Given the description of an element on the screen output the (x, y) to click on. 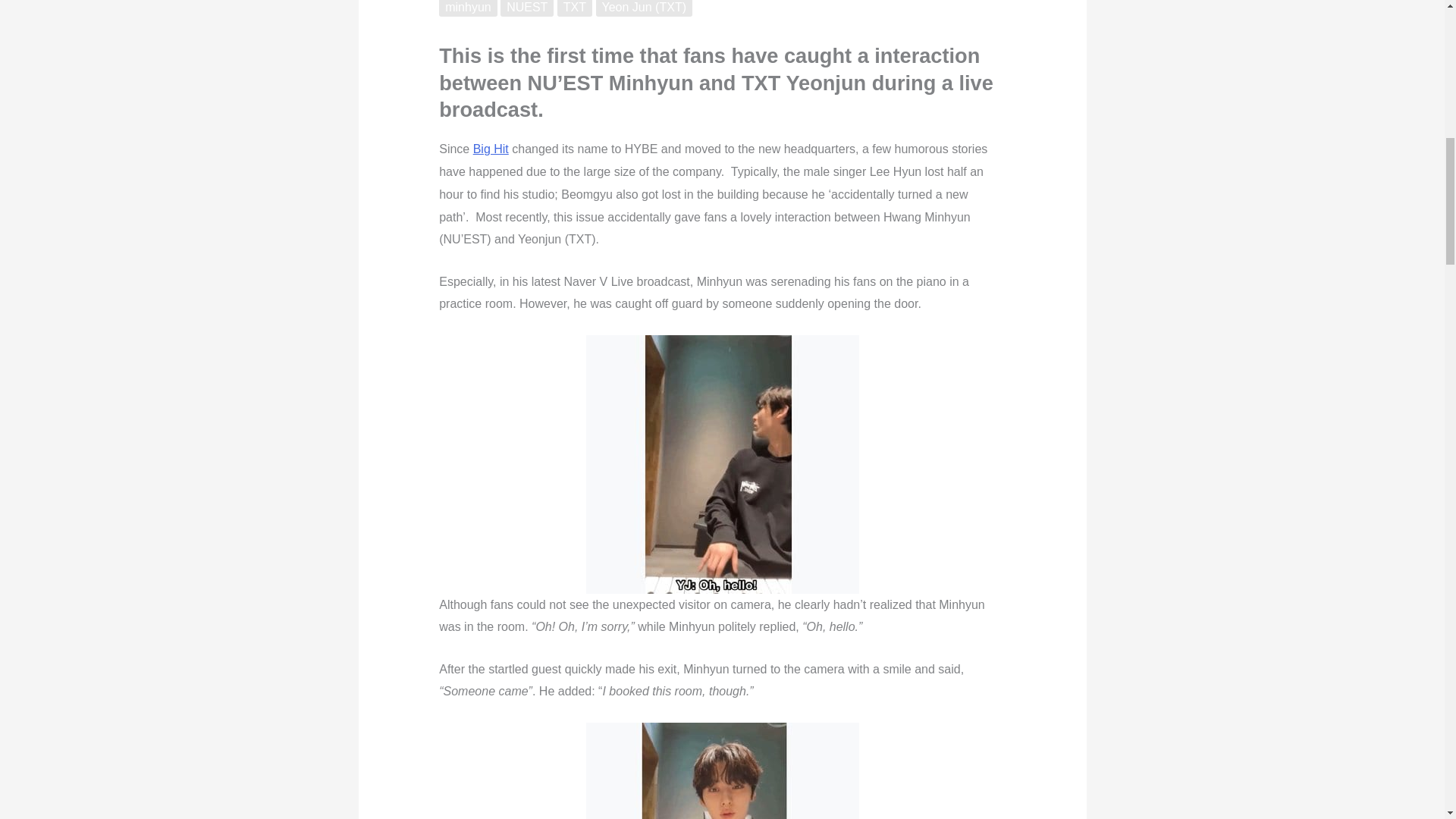
minhyun (467, 8)
NUEST (526, 8)
8B809A6F F961 430A 89B7 422533DFBE38 (722, 770)
2404321C A3D1 4E6E B6ED E66EE205F05B (722, 463)
Big Hit (490, 148)
TXT (574, 8)
